Given the description of an element on the screen output the (x, y) to click on. 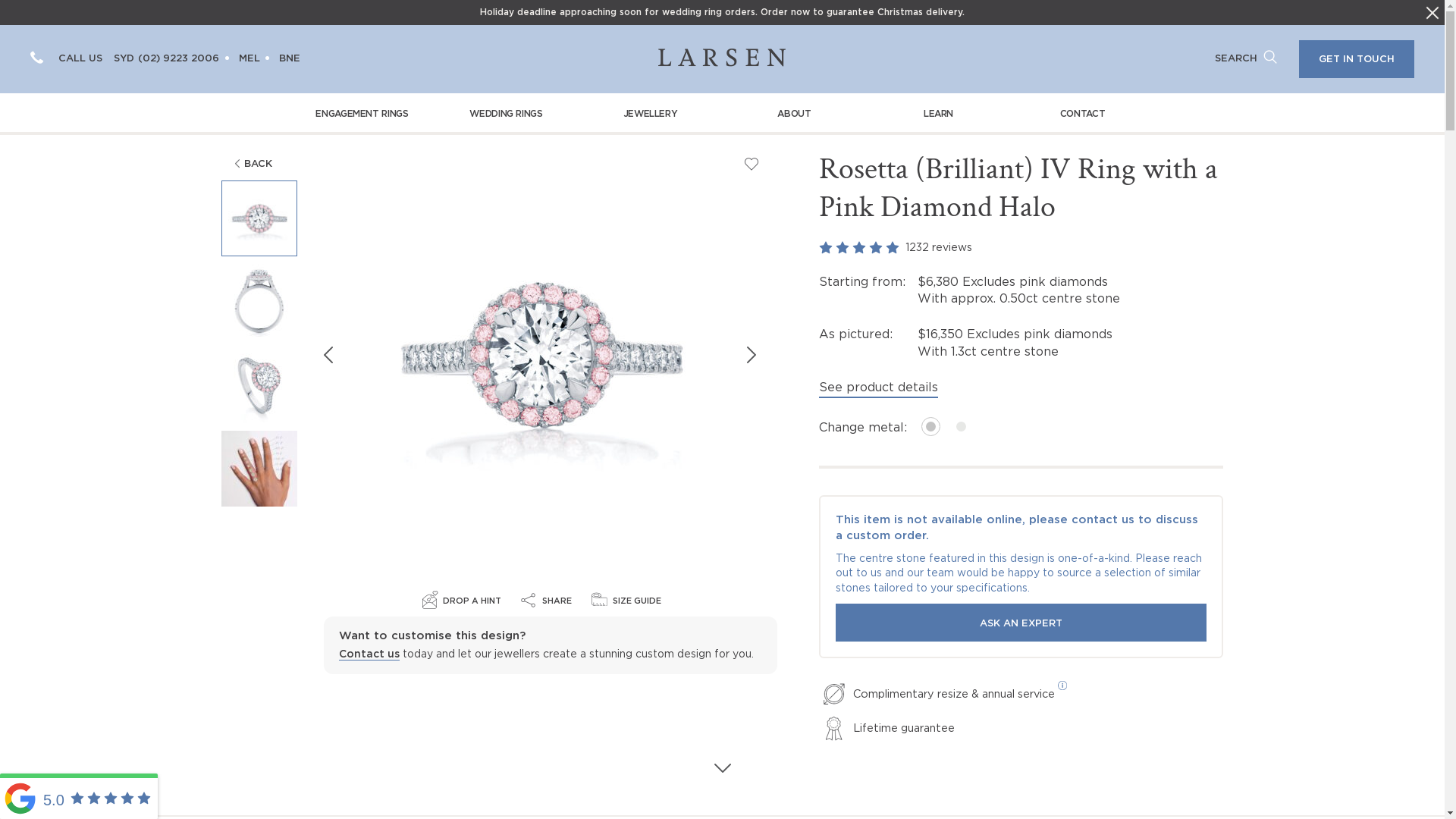
Contact us Element type: text (368, 654)
ENGAGEMENT RINGS Element type: text (361, 112)
GET IN TOUCH Element type: text (1356, 59)
SIZE GUIDE Element type: text (625, 598)
BACK Element type: text (250, 163)
(02) 9223 2006 Element type: text (178, 58)
ASK AN EXPERT Element type: text (1020, 622)
1232 reviews Element type: text (1021, 247)
Previous Element type: text (327, 354)
Next Element type: text (751, 354)
WEDDING RINGS Element type: text (505, 112)
SEARCH Element type: text (1245, 58)
